Given the description of an element on the screen output the (x, y) to click on. 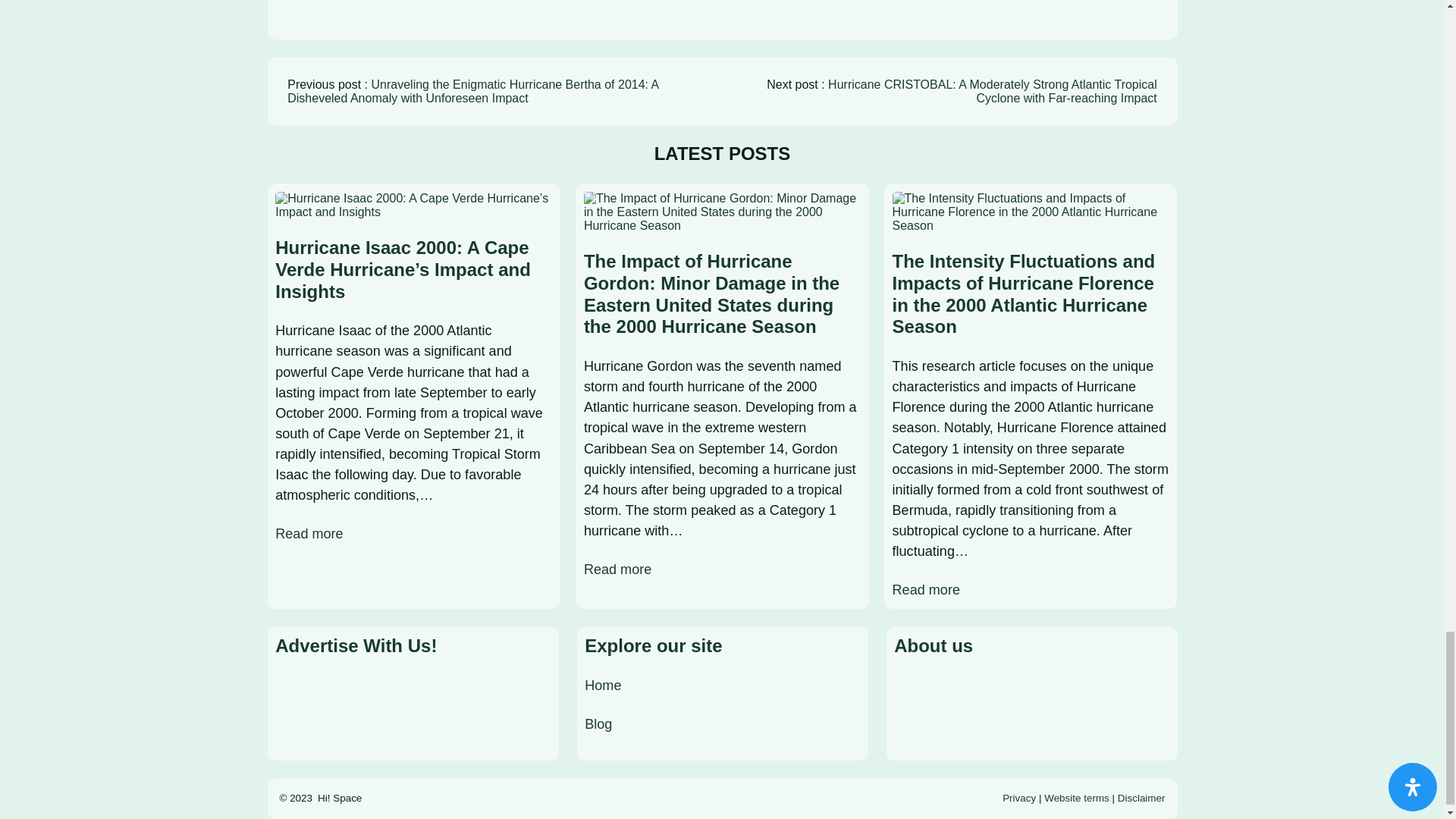
Read more (616, 569)
Read more (925, 589)
Disclaimer (1142, 797)
Read more (308, 534)
Hi! Space (339, 797)
Home (603, 685)
Website terms (1076, 797)
Blog (598, 724)
Privacy (1019, 797)
